Given the description of an element on the screen output the (x, y) to click on. 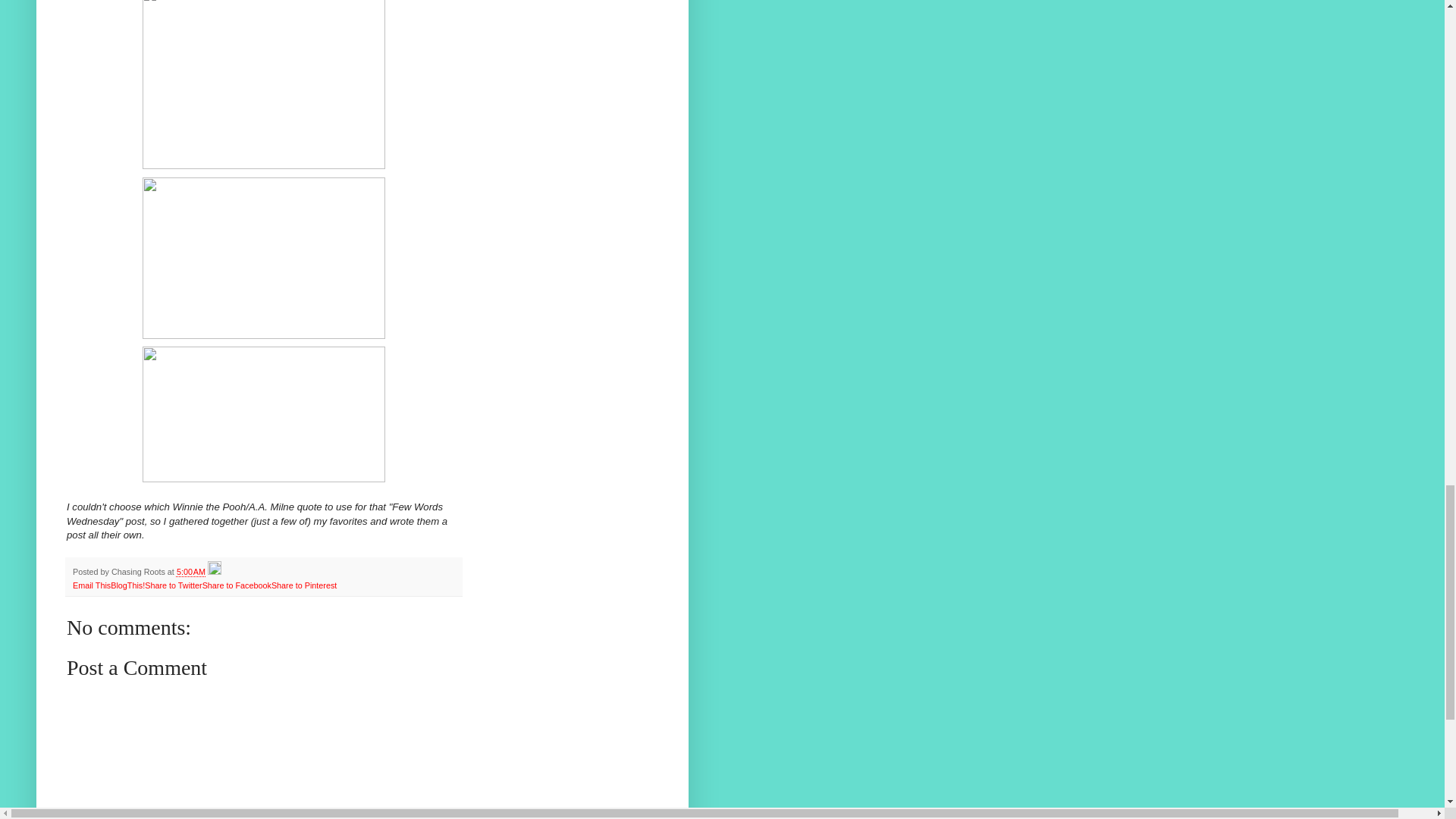
Email This (91, 584)
BlogThis! (127, 584)
Share to Twitter (173, 584)
Share to Pinterest (303, 584)
BlogThis! (127, 584)
Share to Twitter (173, 584)
Share to Facebook (236, 584)
permanent link (190, 571)
Share to Pinterest (303, 584)
